Given the description of an element on the screen output the (x, y) to click on. 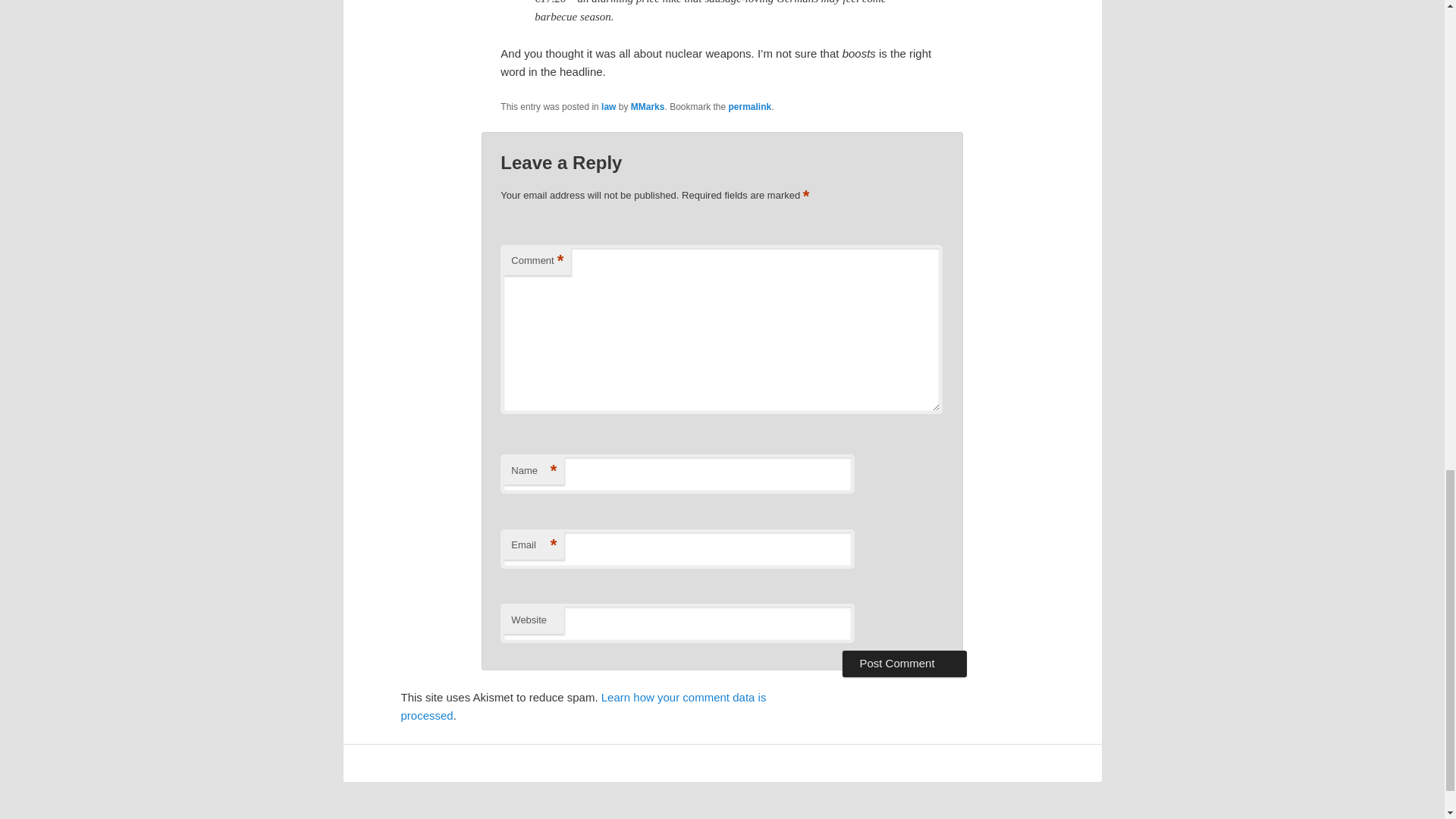
MMarks (647, 106)
law (608, 106)
Learn how your comment data is processed (582, 706)
permalink (750, 106)
Post Comment (904, 663)
Post Comment (904, 663)
